Given the description of an element on the screen output the (x, y) to click on. 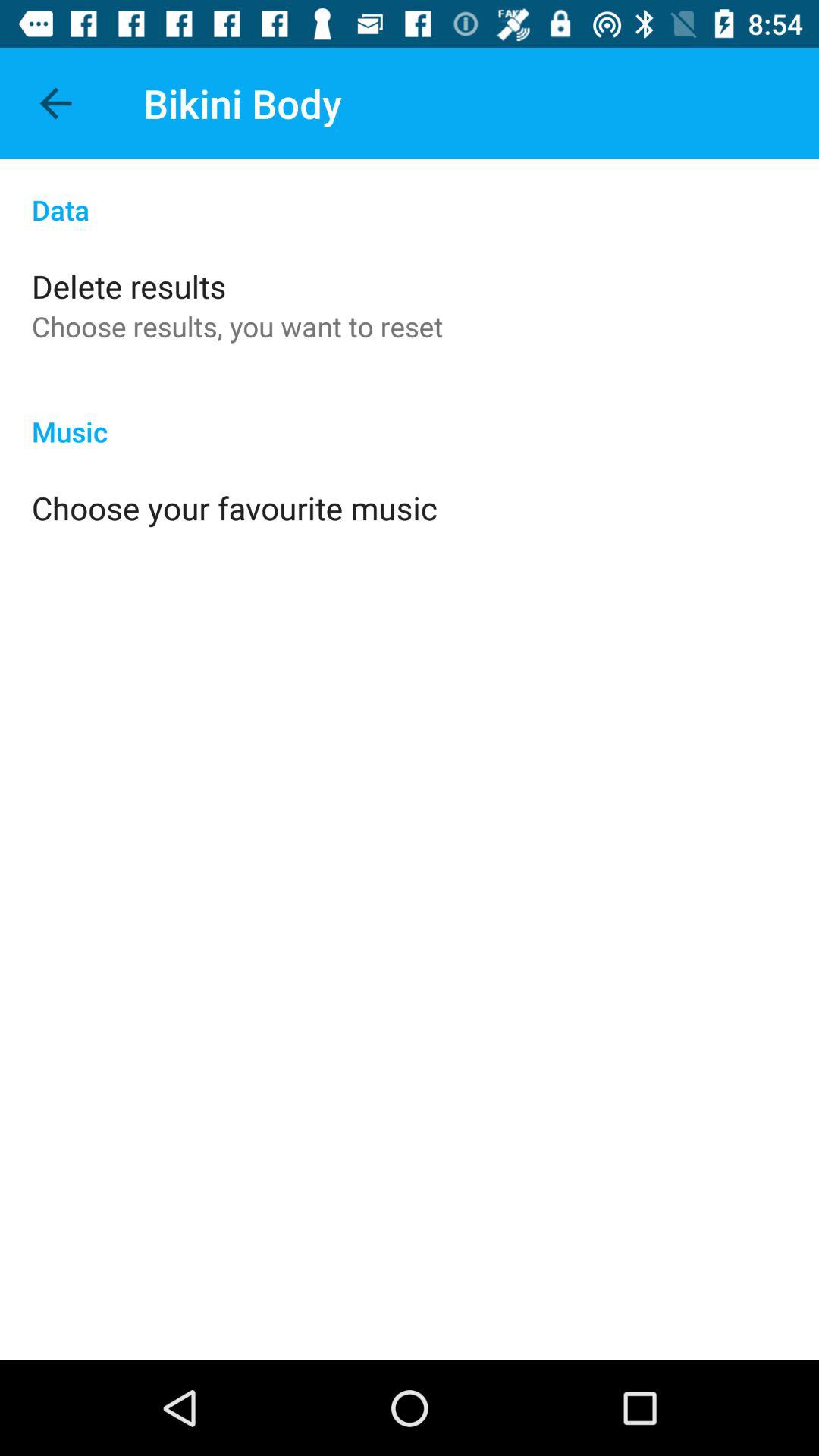
tap the choose results you icon (237, 326)
